Given the description of an element on the screen output the (x, y) to click on. 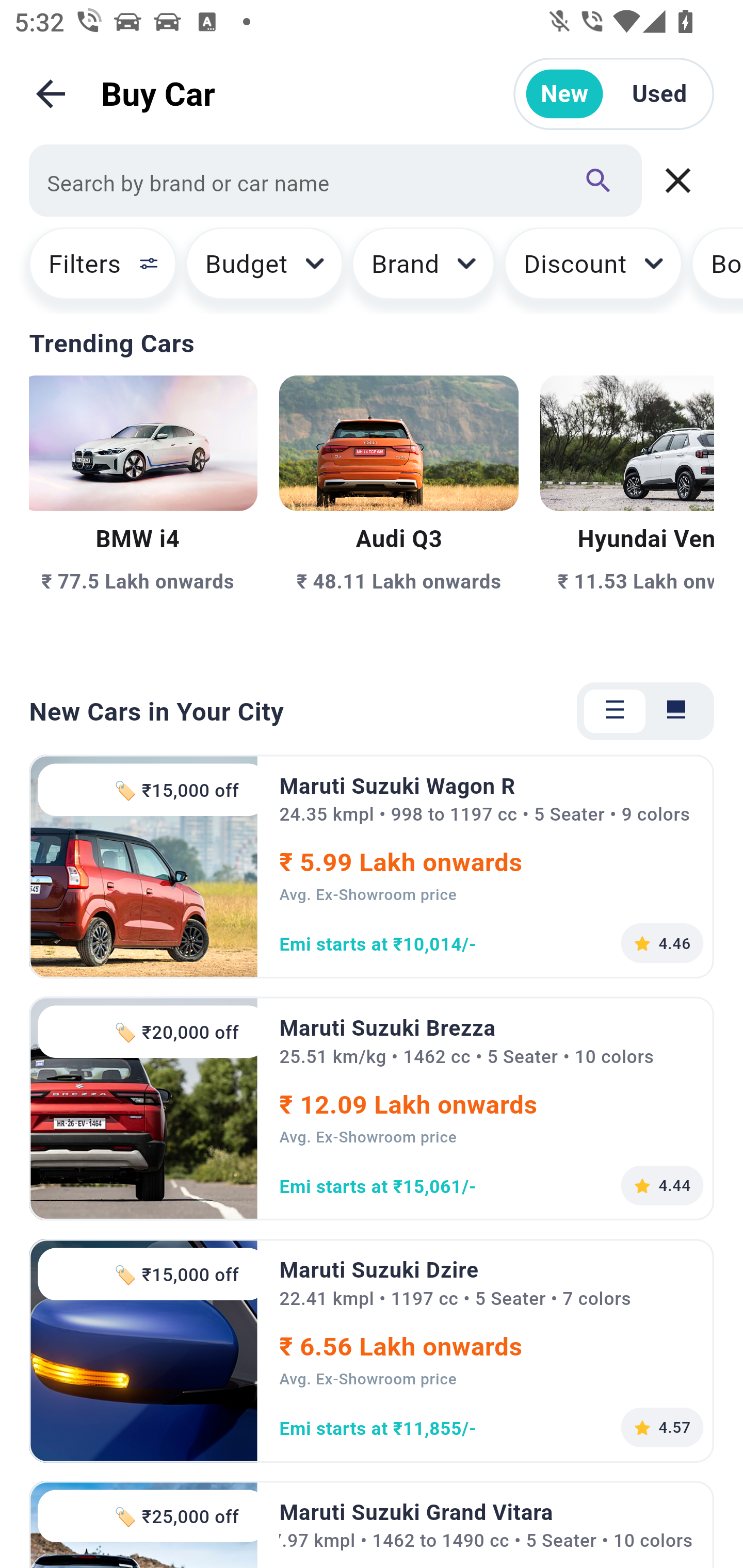
Back (50, 93)
New (564, 93)
Used (659, 93)
Filters (93, 270)
Budget (264, 270)
Brand (423, 270)
Discount (592, 270)
₹ 77.5 Lakh onwards BMW i4 (142, 515)
₹ 48.11 Lakh onwards Audi Q3 (398, 515)
₹ 11.53 Lakh onwards Hyundai Venue (627, 515)
Tab 1 of 2 (614, 710)
Tab 2 of 2 (675, 710)
